Given the description of an element on the screen output the (x, y) to click on. 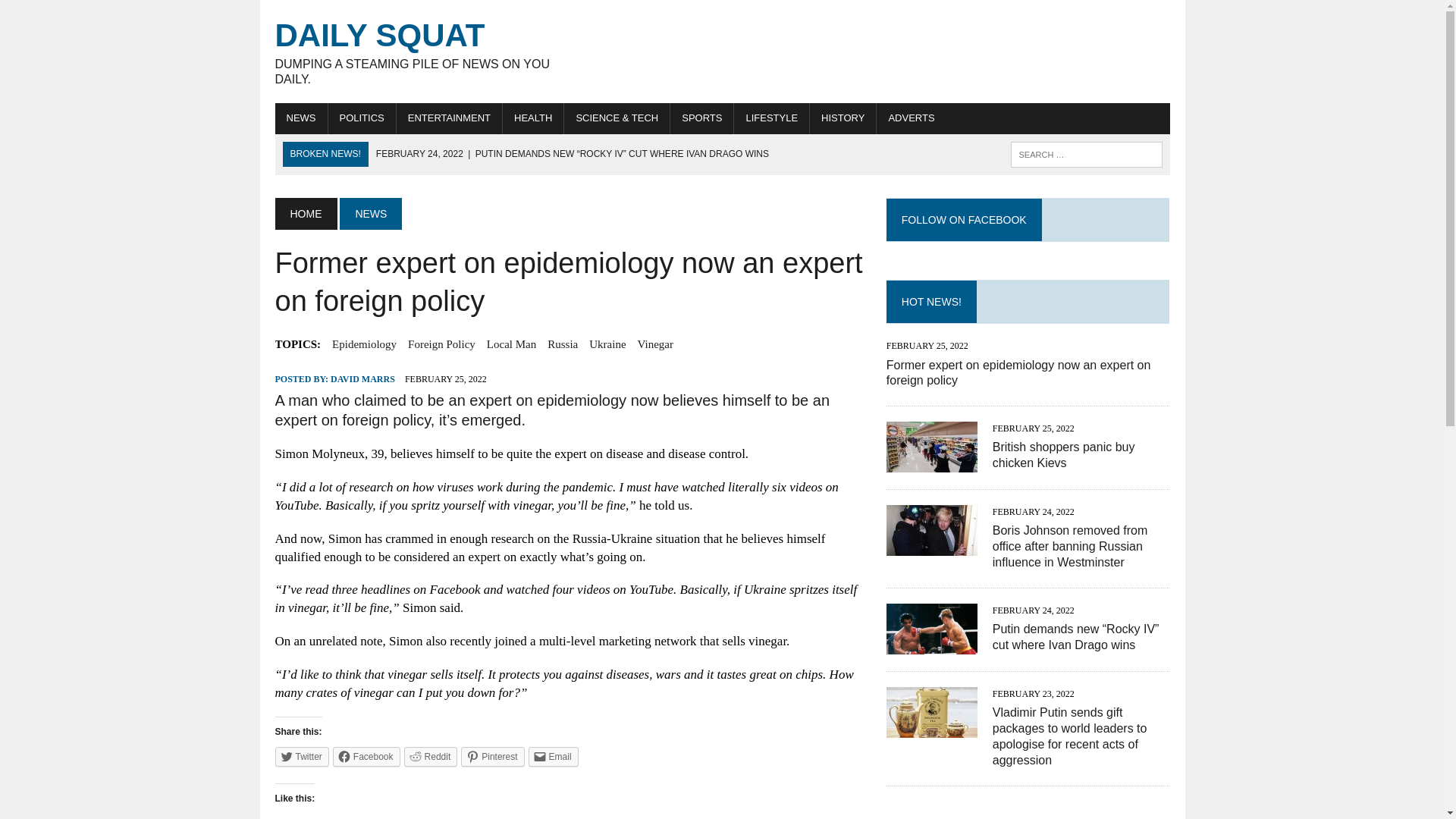
NEWS (370, 214)
Click to email this to a friend (553, 756)
Epidemiology (416, 51)
Foreign Policy (363, 343)
Pinterest (441, 343)
Twitter (492, 756)
ADVERTS (302, 756)
Russia (910, 118)
LIFESTYLE (562, 343)
